Given the description of an element on the screen output the (x, y) to click on. 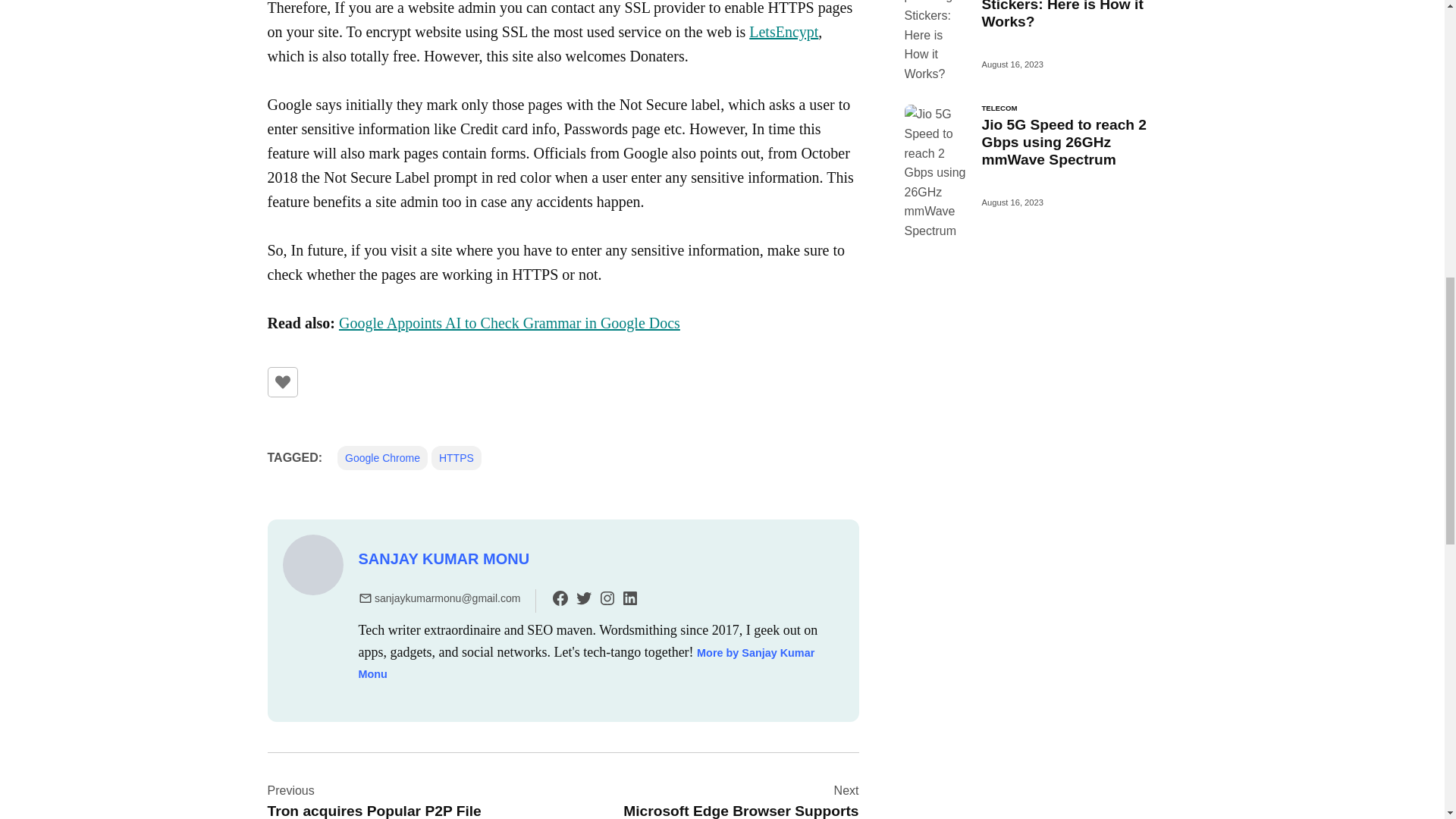
linkedin (630, 597)
instagram (606, 597)
facebook (560, 597)
twitter (583, 597)
